Given the description of an element on the screen output the (x, y) to click on. 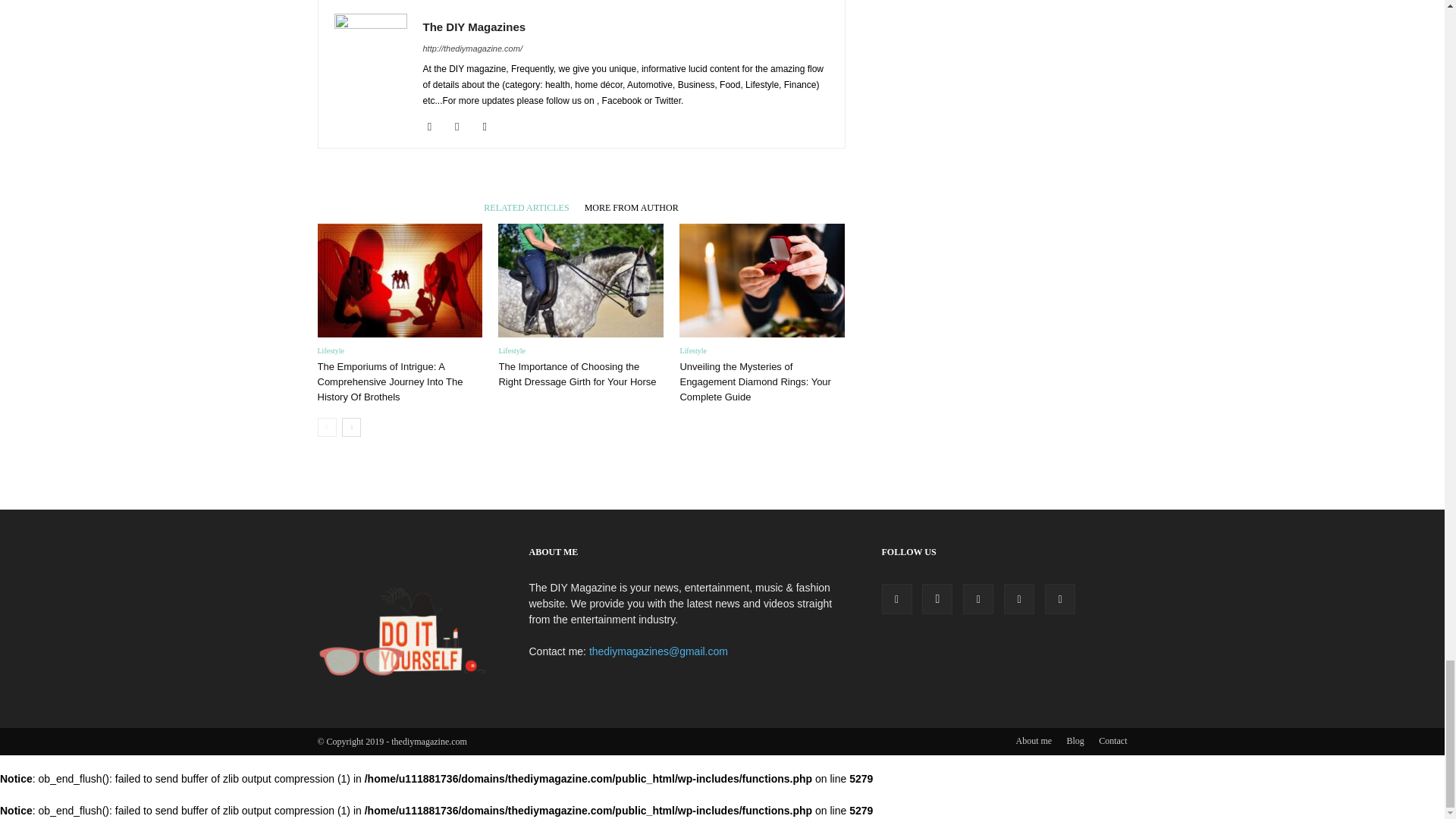
Instagram (462, 126)
Facebook (435, 126)
Twitter (489, 126)
